Given the description of an element on the screen output the (x, y) to click on. 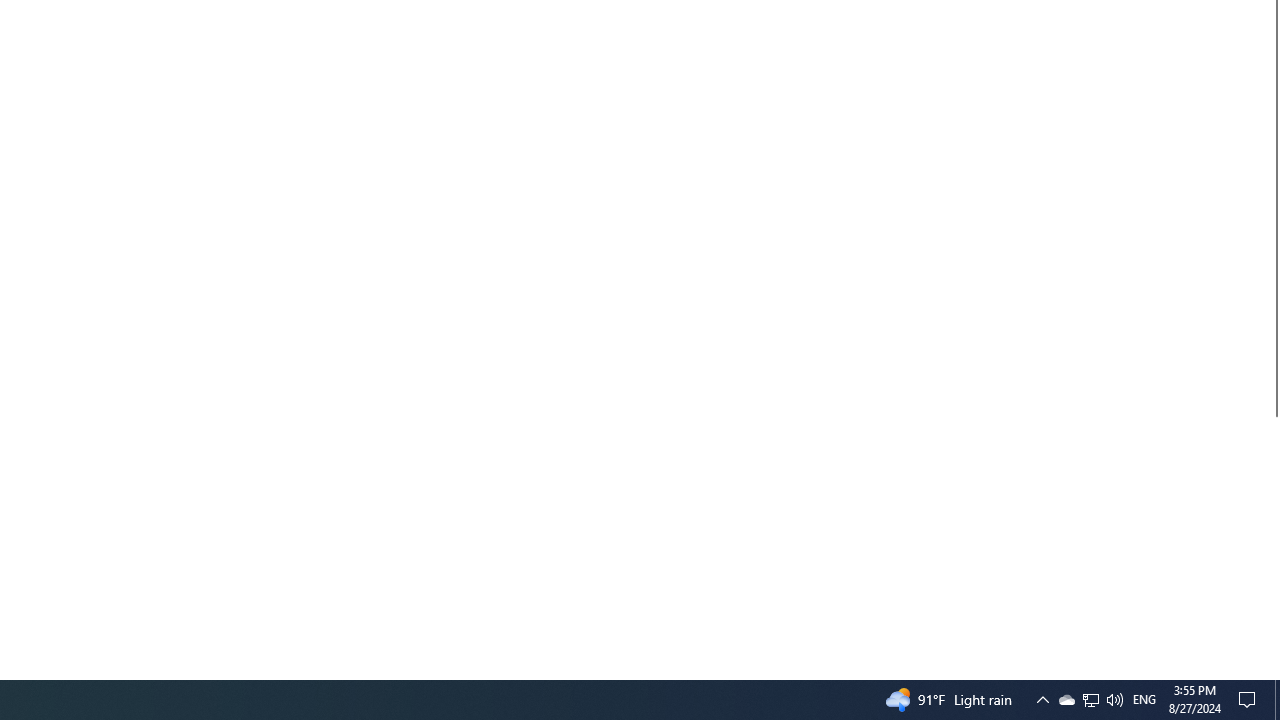
Vertical Small Increase (1272, 671)
Vertical Large Increase (1272, 539)
